Given the description of an element on the screen output the (x, y) to click on. 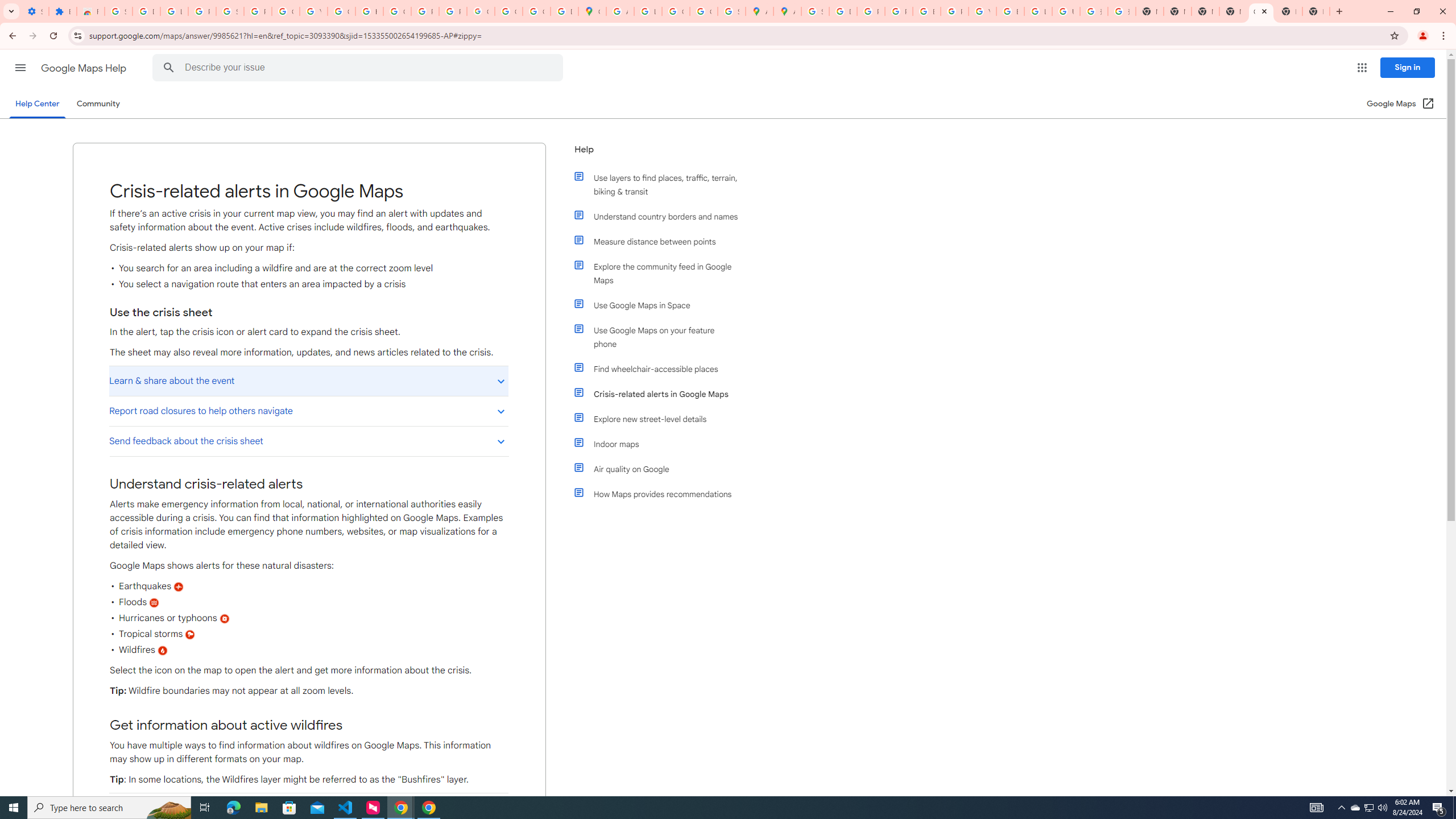
New Tab (1288, 11)
Privacy Help Center - Policies Help (870, 11)
Settings - On startup (34, 11)
Indoor maps (661, 444)
